Given the description of an element on the screen output the (x, y) to click on. 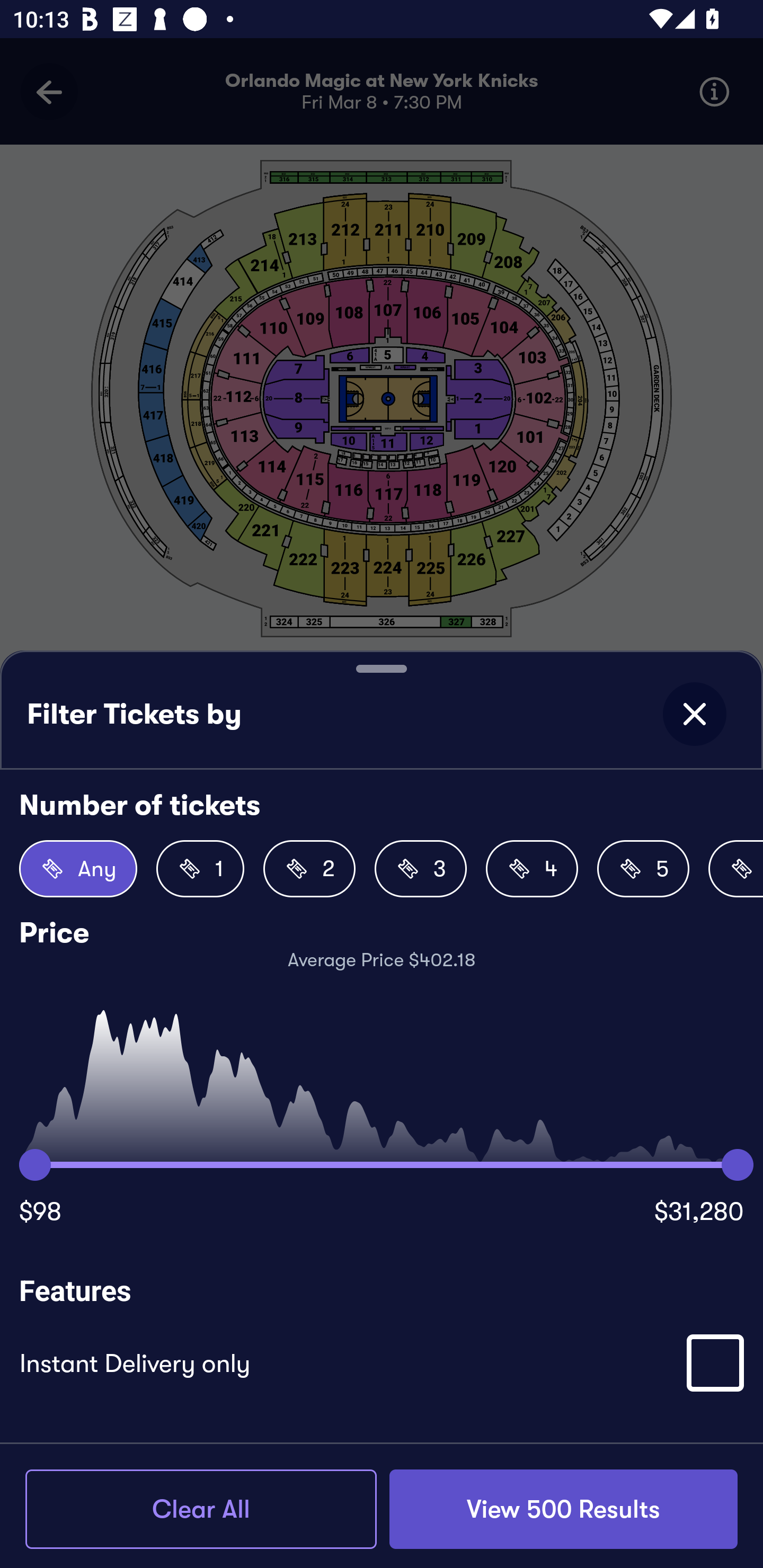
close (694, 714)
Any (78, 868)
1 (200, 868)
2 (309, 868)
3 (420, 868)
4 (532, 868)
5 (642, 868)
Clear All (200, 1509)
View 500 Results (563, 1509)
